Given the description of an element on the screen output the (x, y) to click on. 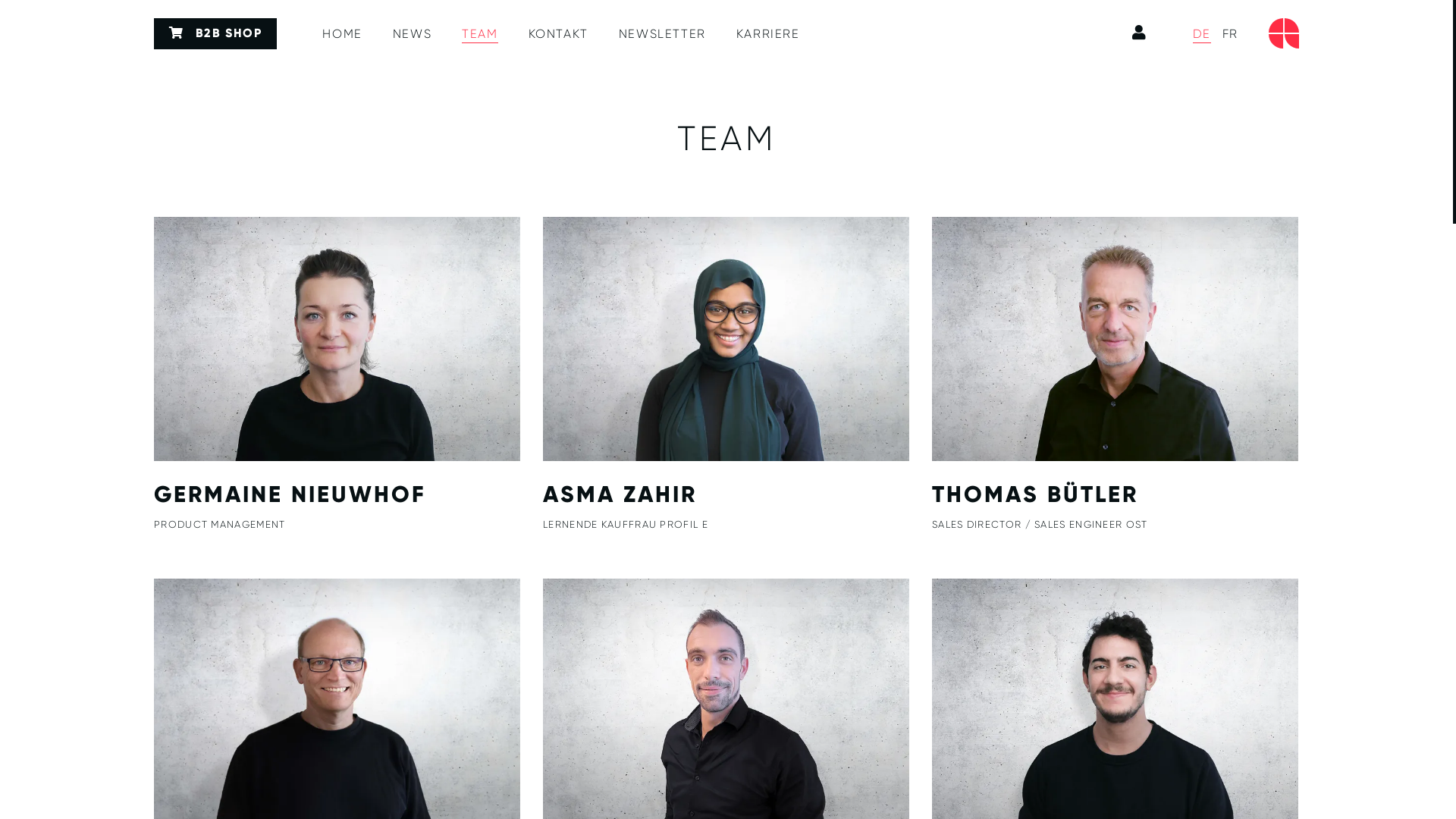
KONTAKT Element type: text (558, 33)
B2B SHOP Element type: text (214, 33)
NEWS Element type: text (411, 33)
KARRIERE Element type: text (768, 33)
HOME Element type: text (341, 33)
GERMAINE NIEUWHOF
PRODUCT MANAGEMENT Element type: text (336, 374)
ASMA ZAHIR
LERNENDE KAUFFRAU PROFIL E Element type: text (725, 374)
DE Element type: text (1201, 33)
TEAM Element type: text (479, 33)
NEWSLETTER Element type: text (662, 33)
FR Element type: text (1230, 33)
